Given the description of an element on the screen output the (x, y) to click on. 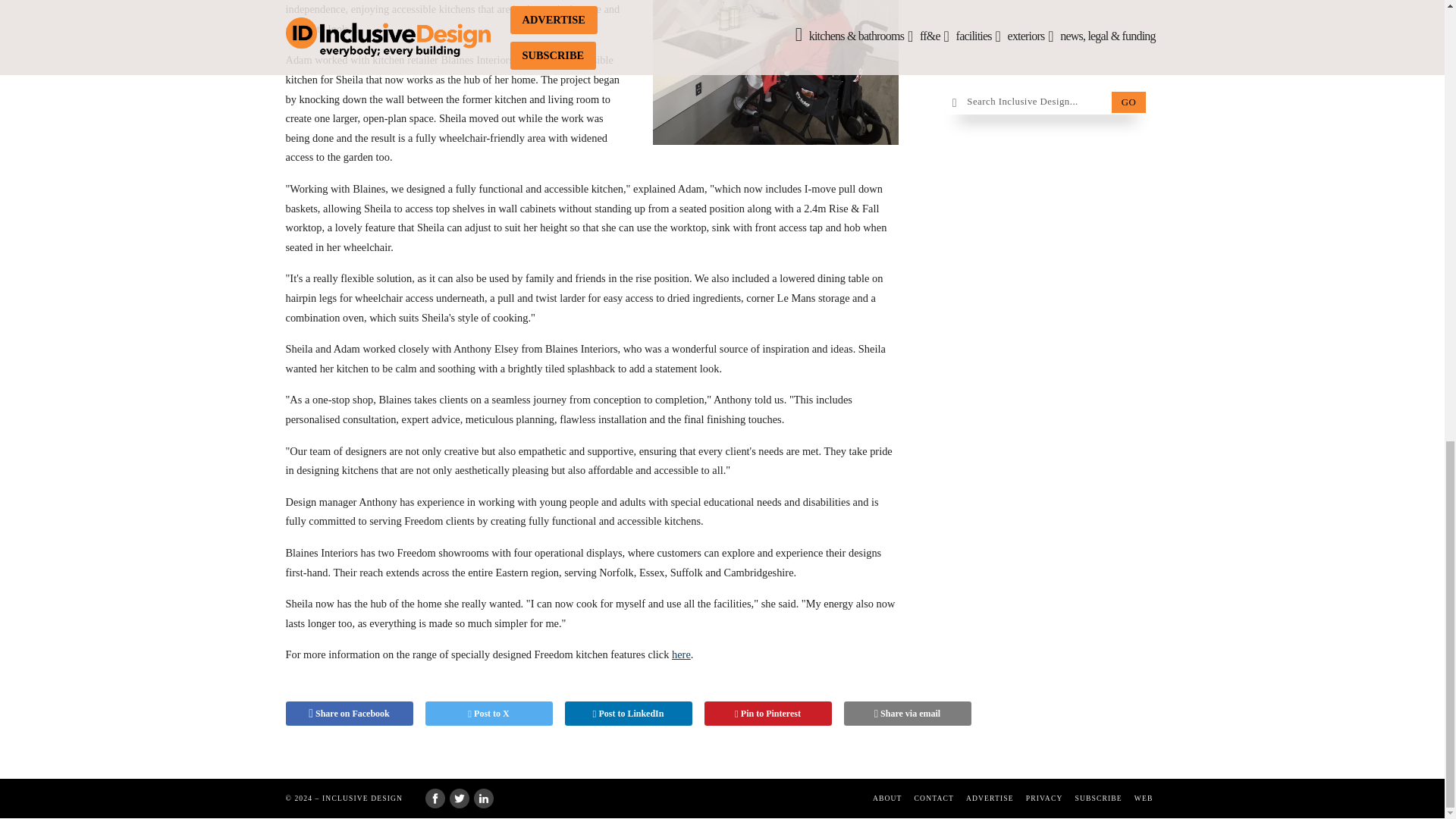
Pin to Pinterest (767, 713)
Post to LinkedIn (627, 713)
Visit our Facebook Page (434, 798)
Visit our LinkedIn Profile (483, 798)
Share on Facebook (348, 713)
Visit our X Feed (458, 798)
here (680, 654)
Share via email (907, 713)
Post to X (488, 713)
